Given the description of an element on the screen output the (x, y) to click on. 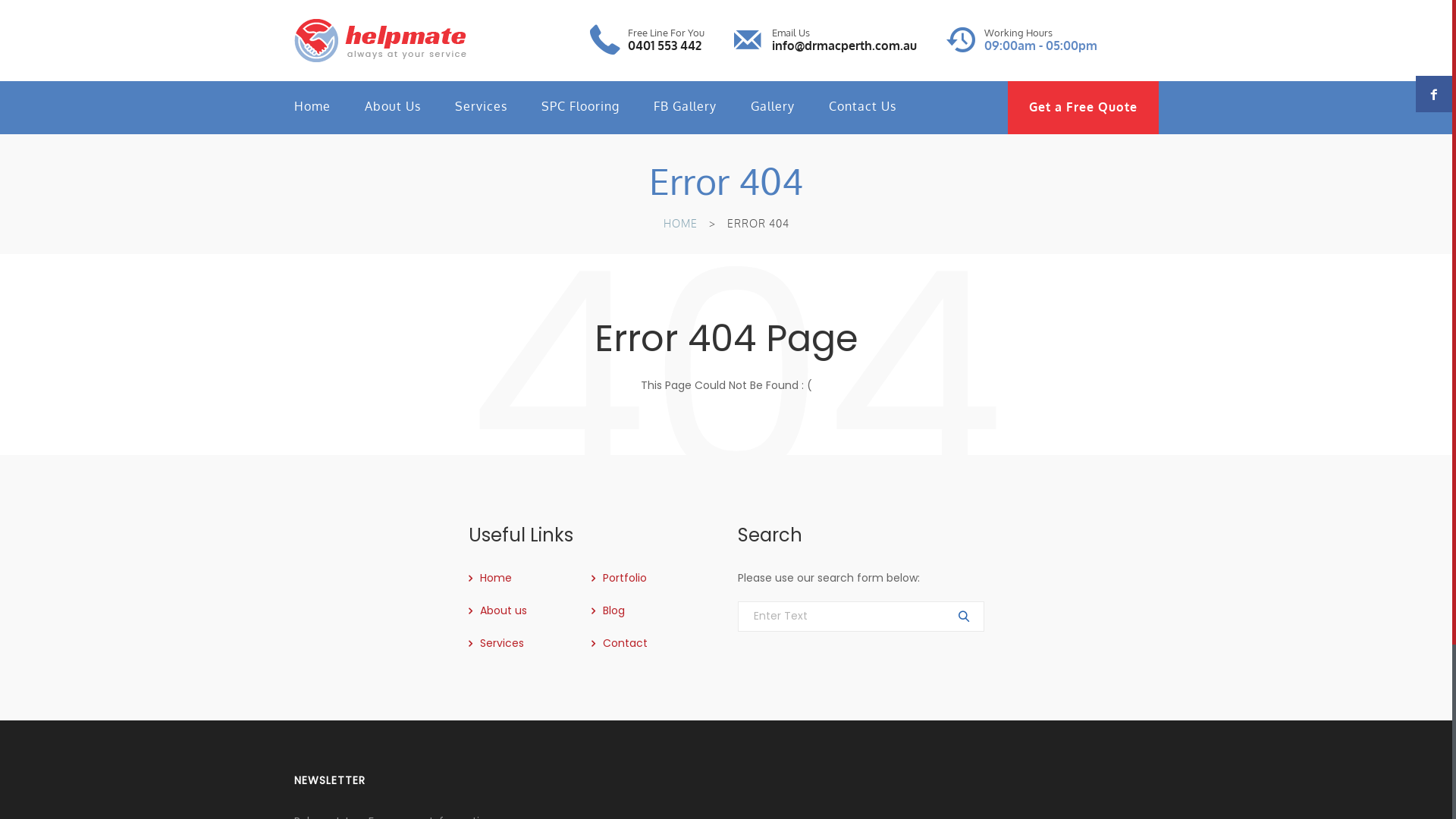
Blog Element type: text (607, 610)
HOME Element type: text (679, 222)
Home Element type: text (489, 577)
Contact Us Element type: text (861, 105)
Services Element type: text (481, 105)
Home Element type: text (312, 105)
Services Element type: text (496, 642)
Contact Element type: text (619, 642)
Gallery Element type: text (772, 105)
Portfolio Element type: text (618, 577)
About Us Element type: text (392, 105)
Get a Free Quote Element type: text (1082, 107)
FB Gallery Element type: text (684, 105)
SPC Flooring Element type: text (580, 105)
About us Element type: text (497, 610)
info@drmacperth.com.au Element type: text (843, 45)
0401 553 442 Element type: text (664, 45)
Search for: Element type: hover (860, 616)
